Given the description of an element on the screen output the (x, y) to click on. 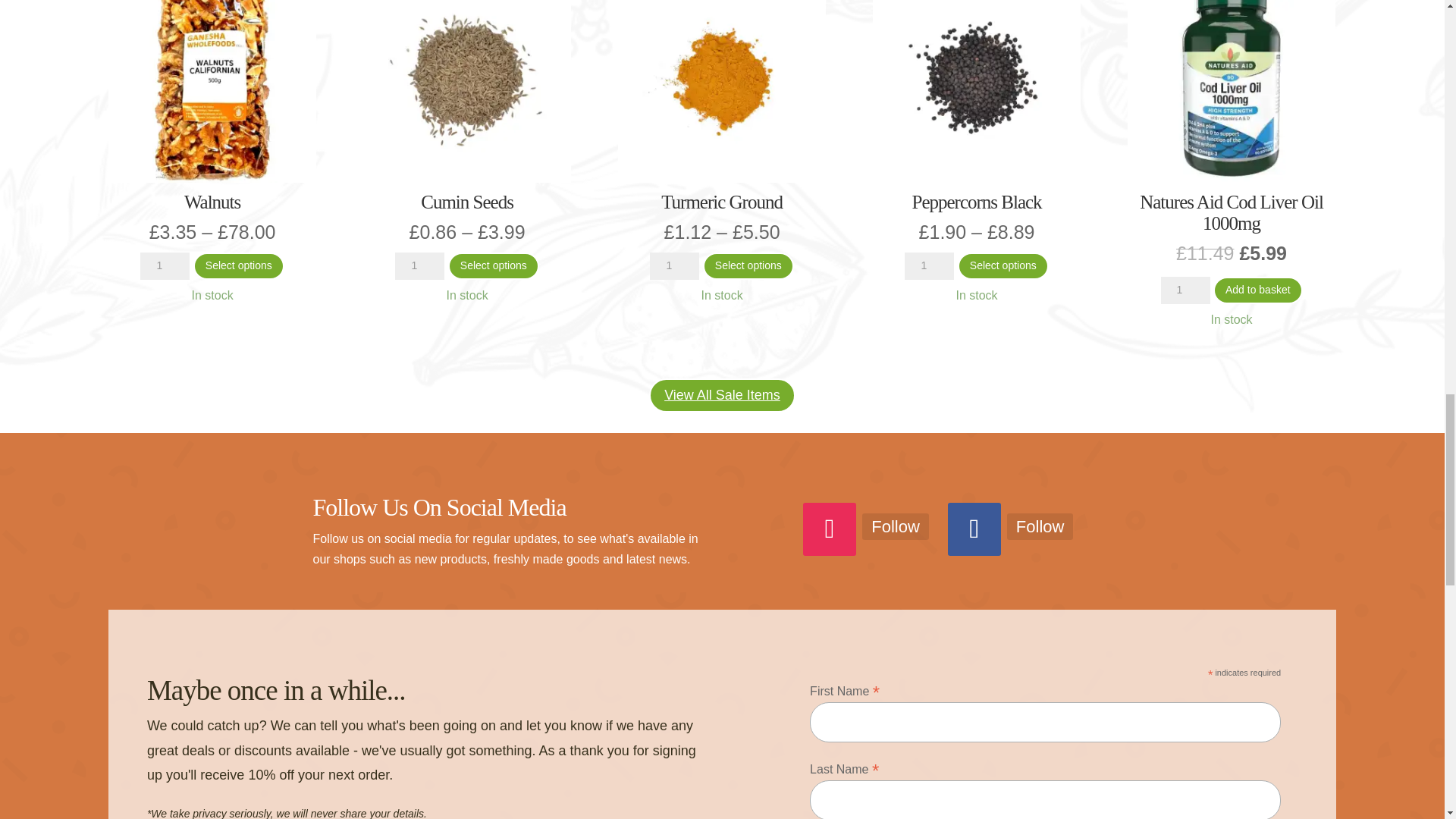
Instagram (894, 526)
Facebook (1040, 526)
1 (419, 266)
1 (673, 266)
1 (1184, 289)
Follow on Facebook (974, 529)
1 (164, 266)
1 (928, 266)
Follow on Instagram (829, 529)
